Given the description of an element on the screen output the (x, y) to click on. 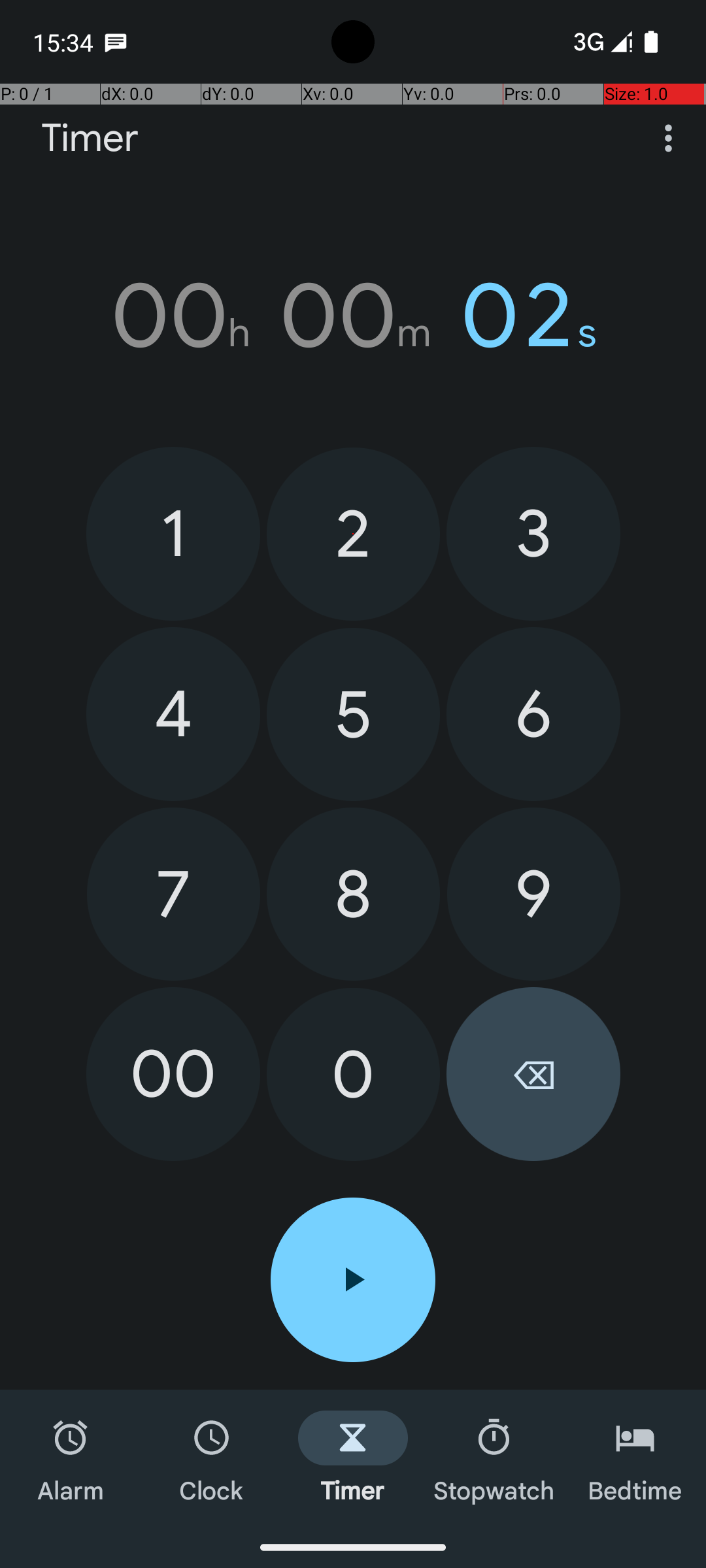
00h 00m 02s Element type: android.widget.TextView (353, 315)
